Given the description of an element on the screen output the (x, y) to click on. 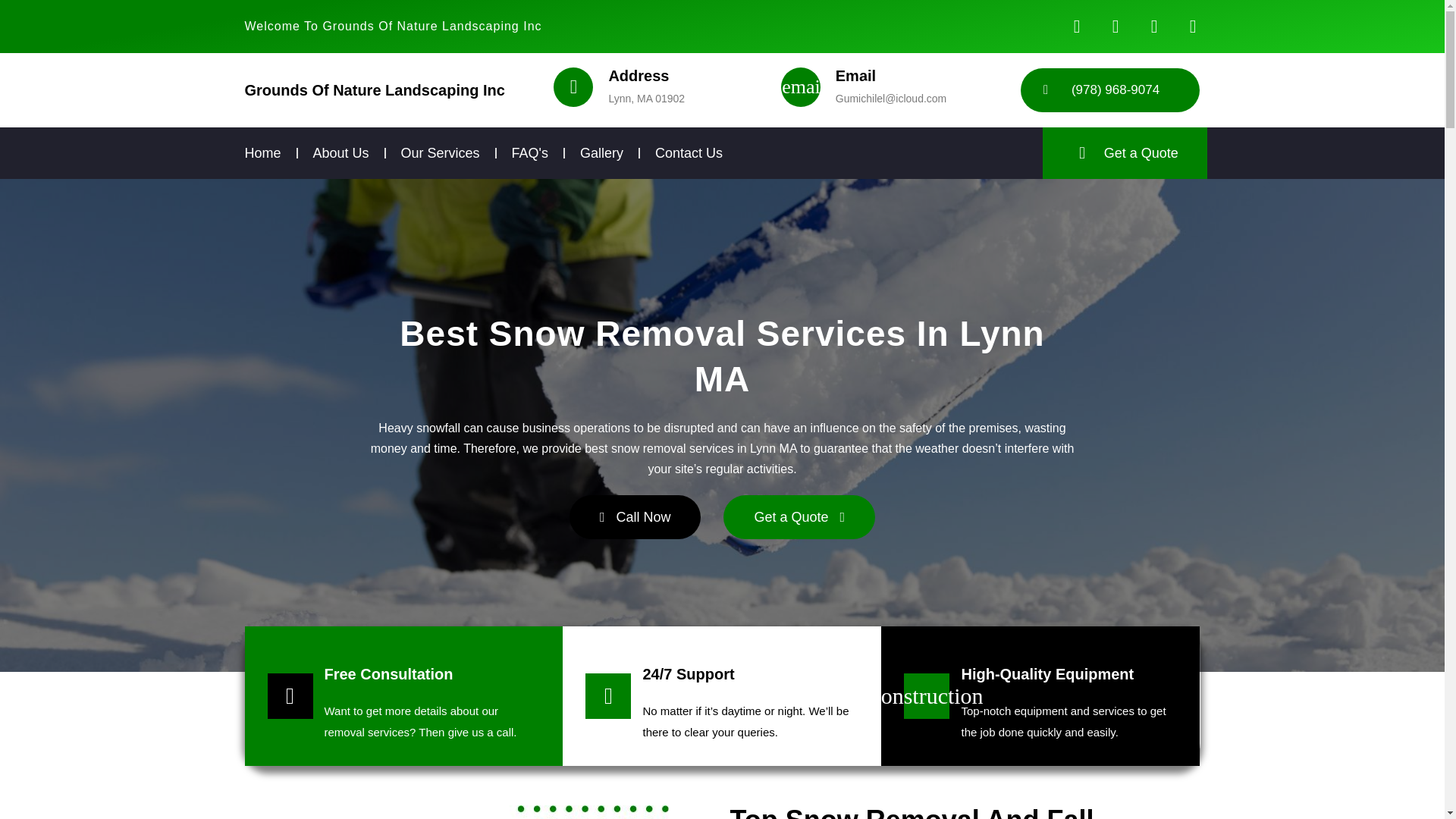
FAQ's (530, 152)
Get a Quote (799, 516)
Home (262, 152)
Gallery (601, 152)
Call Now (635, 516)
About Us (341, 152)
Our Services (440, 152)
Get a Quote (1124, 152)
Contact Us (688, 152)
